Given the description of an element on the screen output the (x, y) to click on. 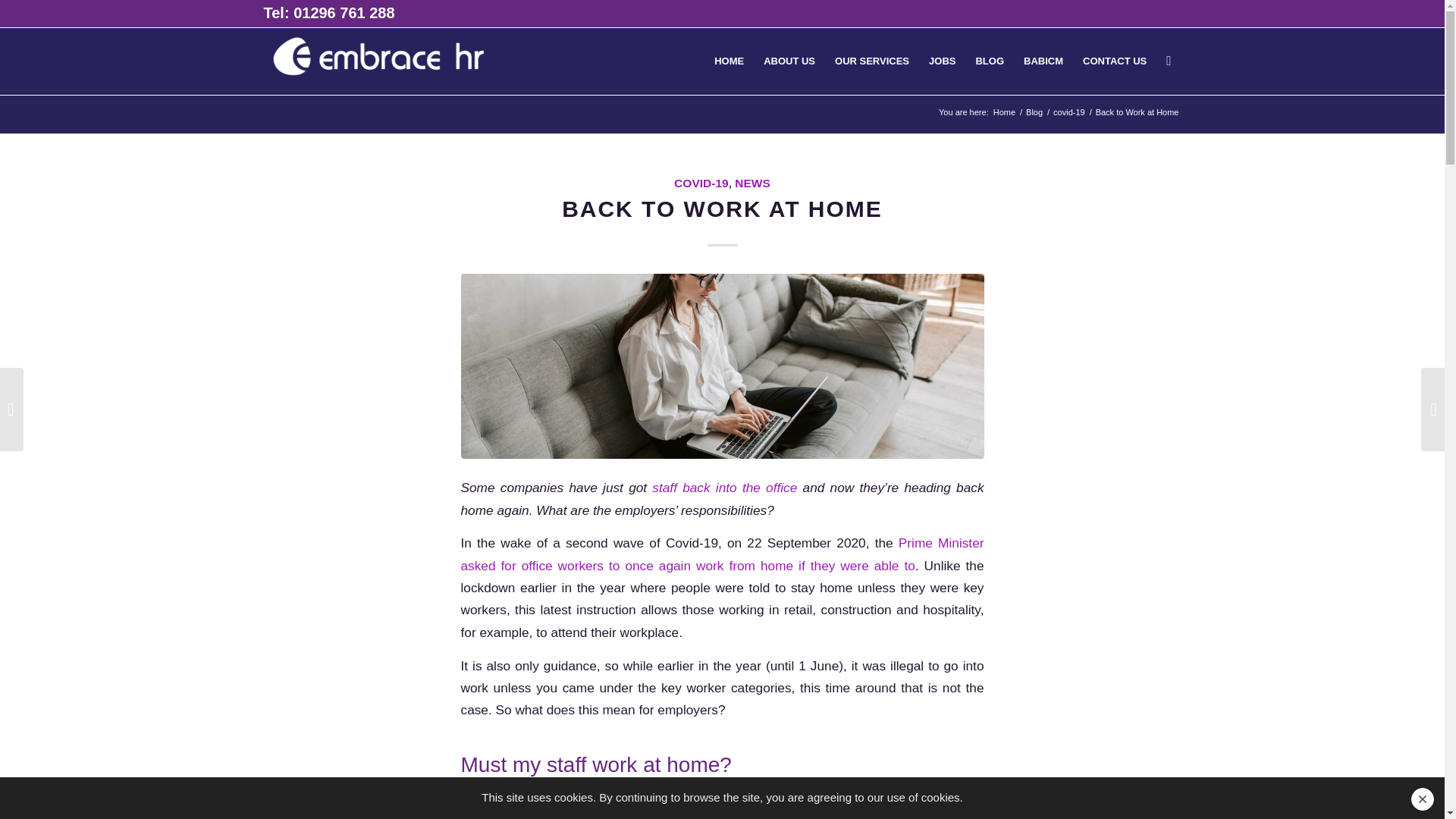
COVID-19 (701, 182)
Home (1004, 112)
Embrace HR (1004, 112)
staff back into the office (724, 487)
pexels-vlada-karpovich-4050291 (722, 365)
NEWS (752, 182)
covid-19 (1069, 112)
Tel: 01296 761 288 (328, 13)
OUR SERVICES (871, 61)
Blog (1034, 112)
Blog (1034, 112)
ABOUT US (789, 61)
CONTACT US (1114, 61)
